Given the description of an element on the screen output the (x, y) to click on. 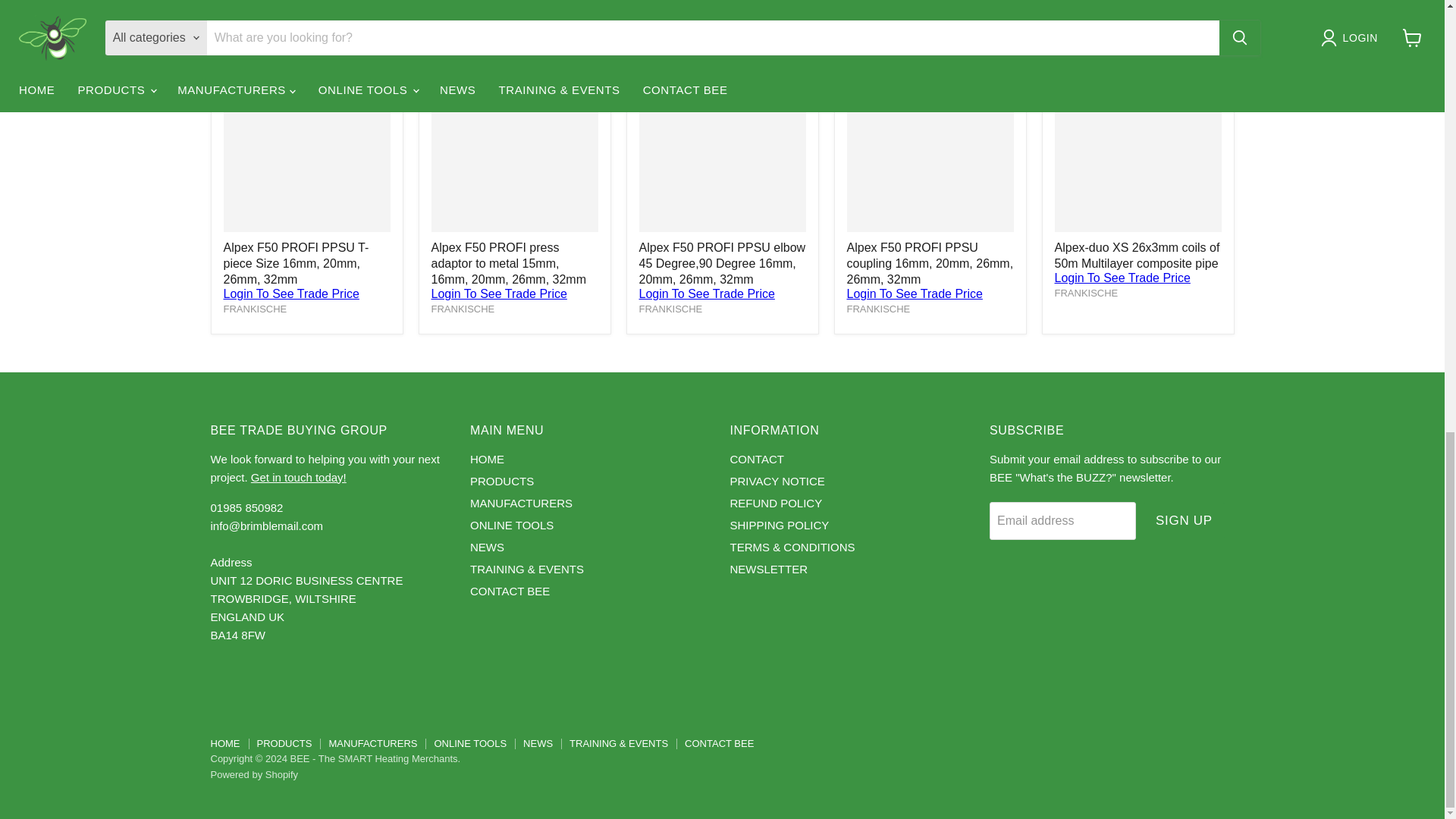
FRANKISCHE (877, 308)
FRANKISCHE (1086, 292)
FRANKISCHE (254, 308)
Contact Us (298, 477)
FRANKISCHE (462, 308)
FRANKISCHE (670, 308)
